Given the description of an element on the screen output the (x, y) to click on. 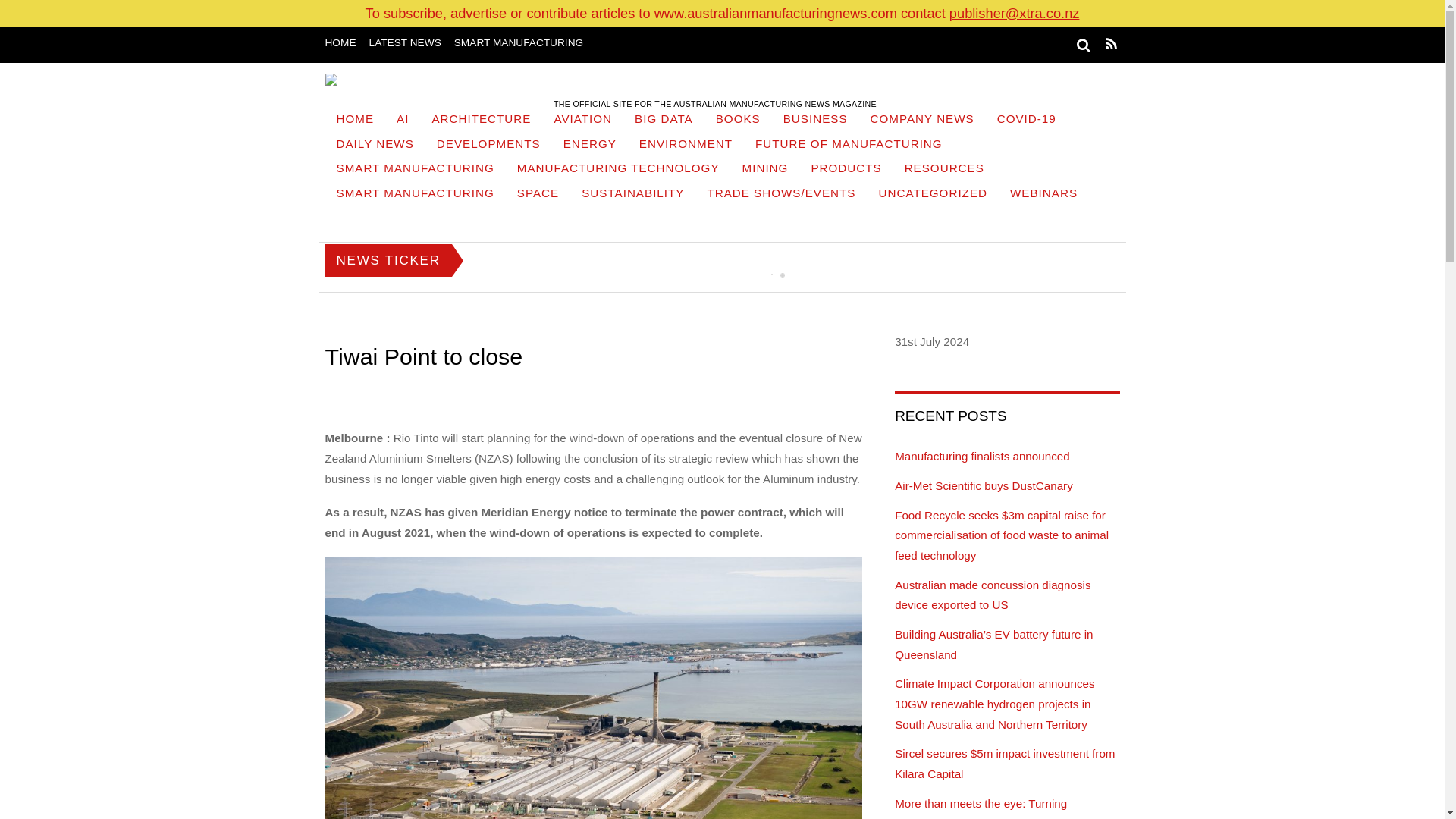
BUSINESS (815, 120)
FUTURE OF MANUFACTURING (848, 145)
SMART MANUFACTURING (414, 195)
HOME (339, 42)
AI (402, 120)
HOME (354, 120)
DEVELOPMENTS (488, 145)
PRODUCTS (845, 170)
ENVIRONMENT (685, 145)
ARCHITECTURE (480, 120)
Australian Manufacturing News (713, 84)
COMPANY NEWS (922, 120)
SPACE (537, 195)
SMART MANUFACTURING (518, 42)
SUSTAINABILITY (632, 195)
